Given the description of an element on the screen output the (x, y) to click on. 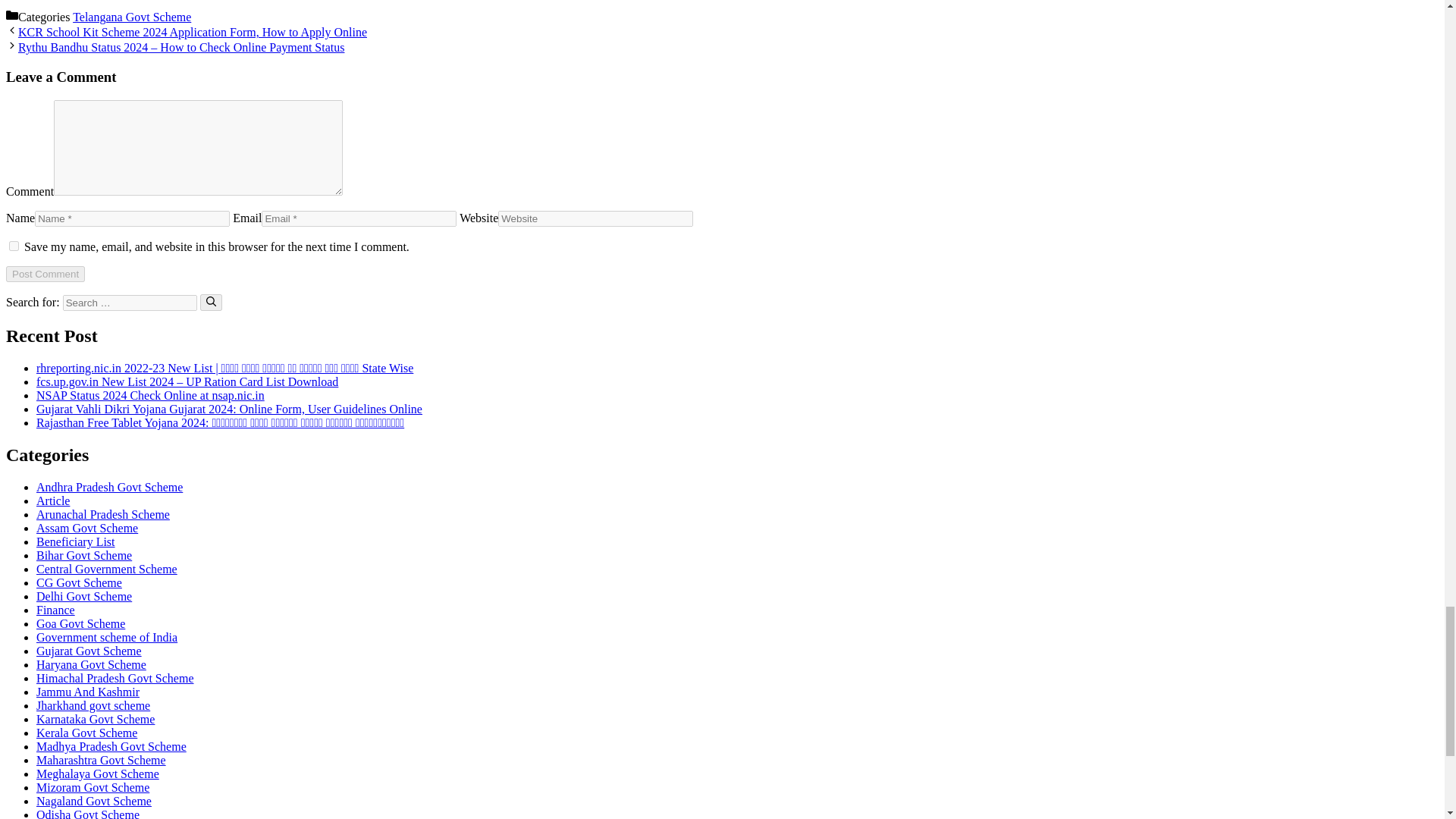
Search for: (129, 302)
Post Comment (44, 273)
Post Comment (44, 273)
yes (13, 245)
Telangana Govt Scheme (131, 16)
Andhra Pradesh Govt Scheme (109, 486)
NSAP Status 2024 Check Online at nsap.nic.in (150, 395)
